Given the description of an element on the screen output the (x, y) to click on. 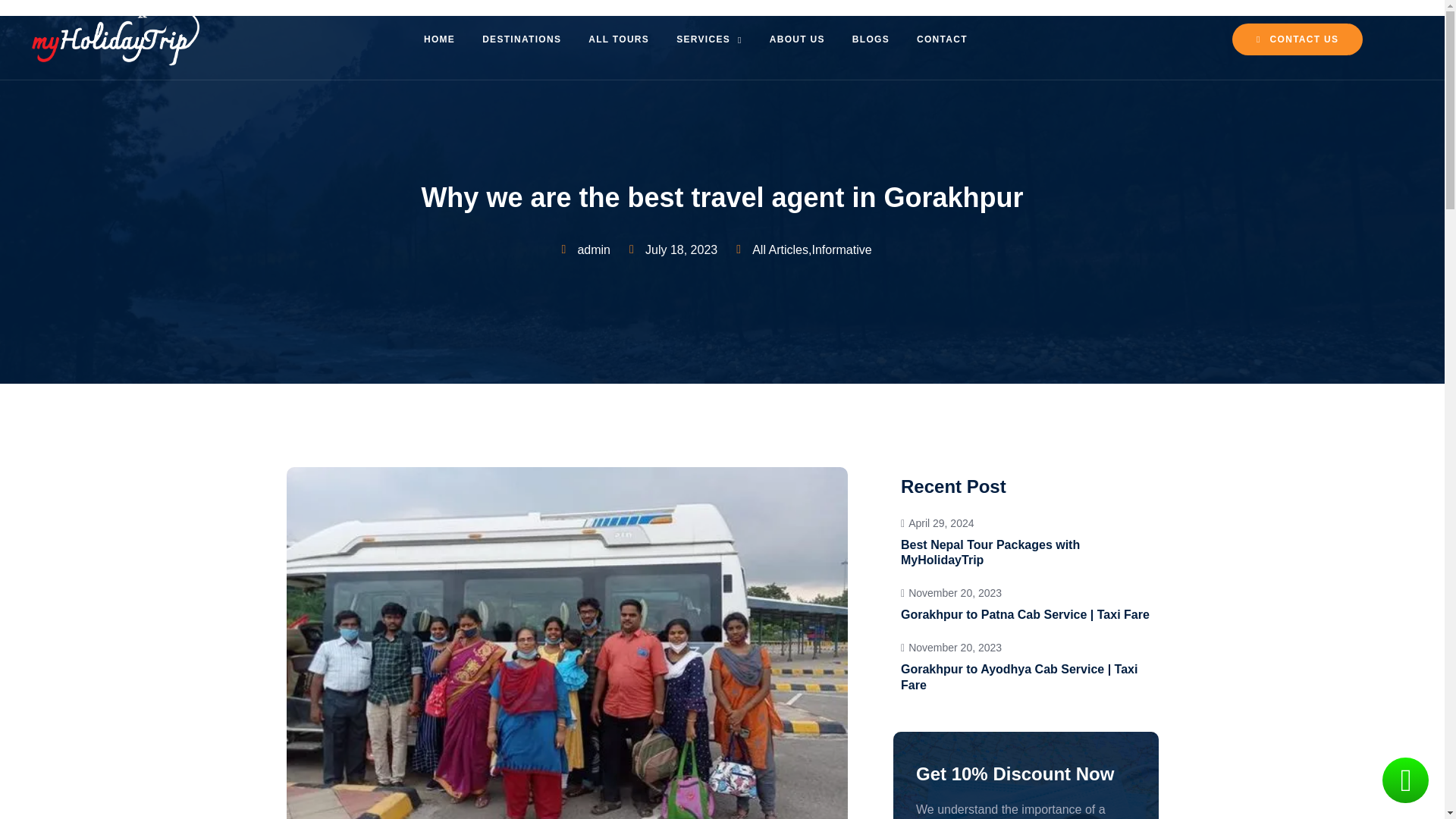
CONTACT (941, 39)
SERVICES (1026, 541)
CONTACT US (708, 39)
DESTINATIONS (1296, 39)
ALL TOURS (521, 39)
HOME (618, 39)
ABOUT US (439, 39)
BLOGS (796, 39)
